Given the description of an element on the screen output the (x, y) to click on. 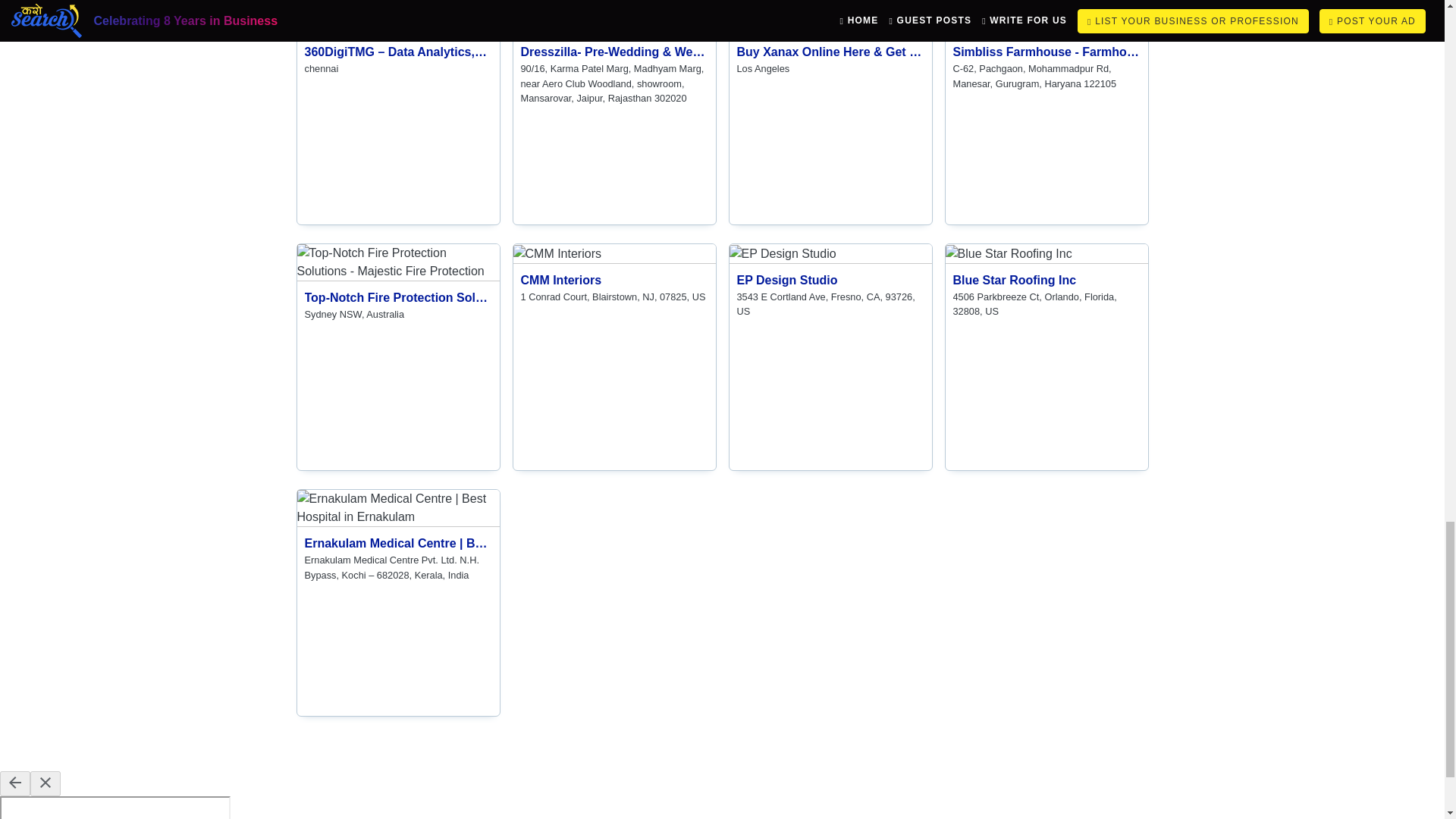
Simbliss Farmhouse - Farmhouse for Wedding In Gurgaon (613, 278)
CMM Interiors (1045, 17)
